Given the description of an element on the screen output the (x, y) to click on. 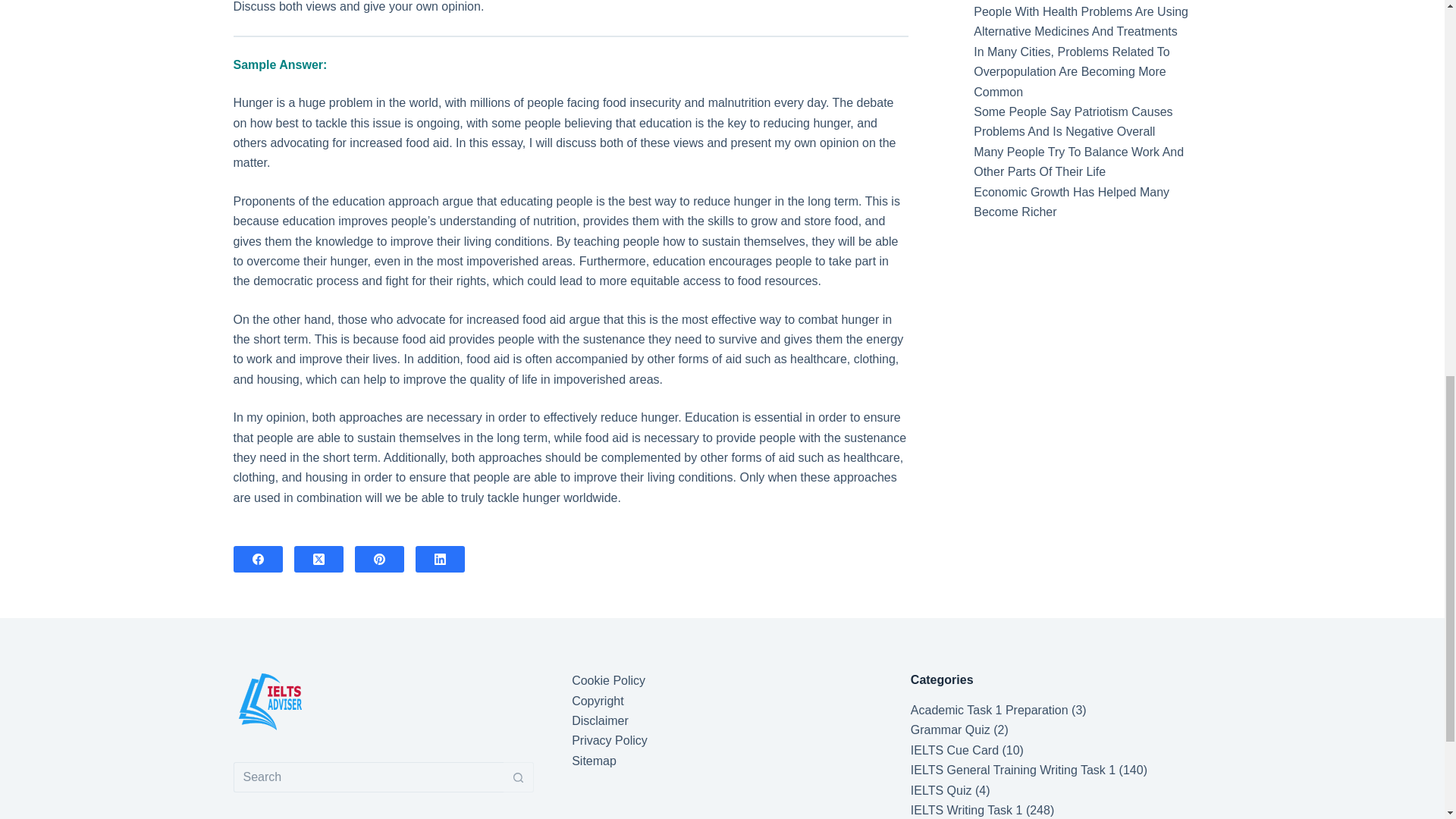
Search for... (367, 777)
